Given the description of an element on the screen output the (x, y) to click on. 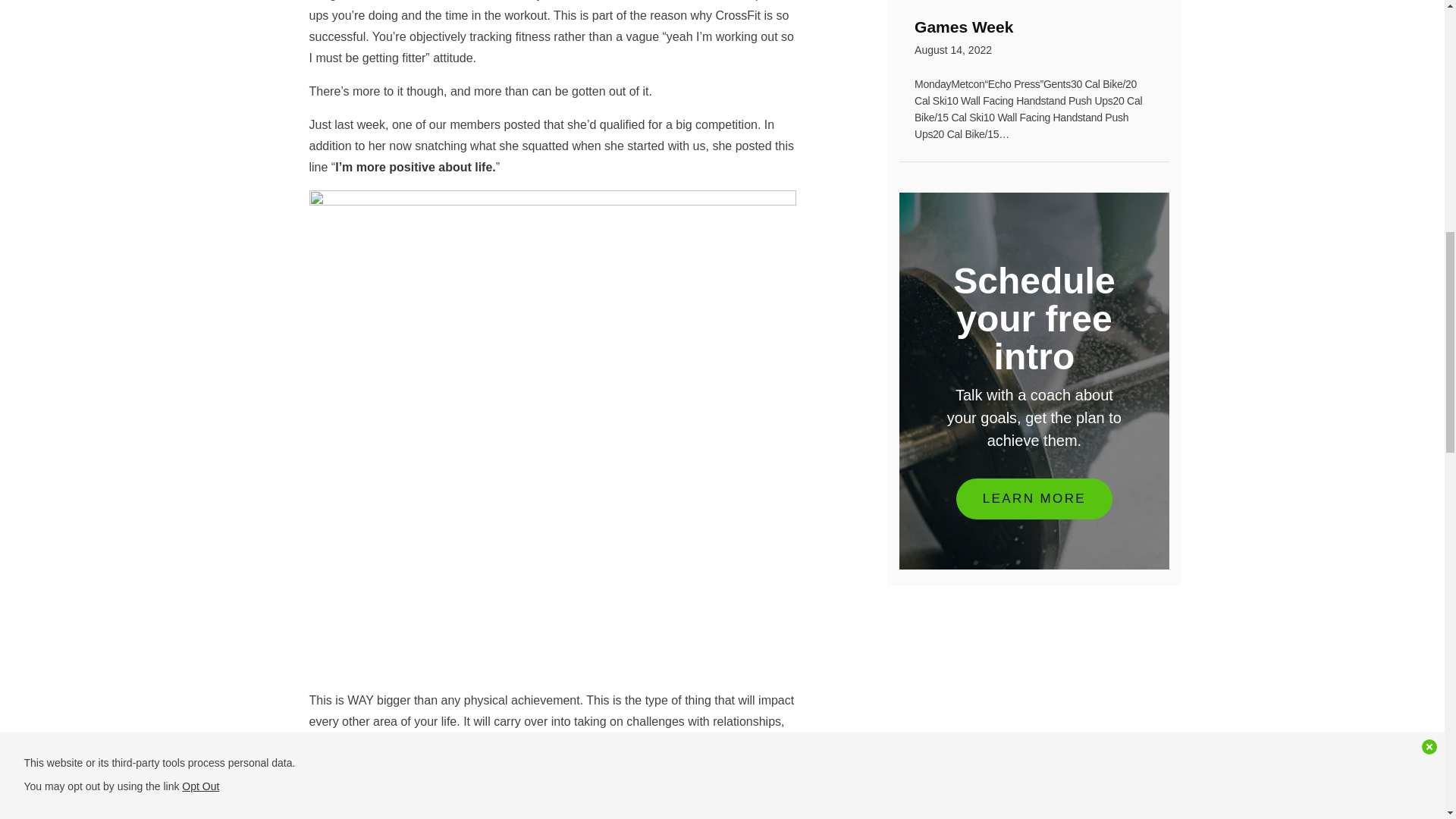
LEARN MORE (1034, 497)
